Given the description of an element on the screen output the (x, y) to click on. 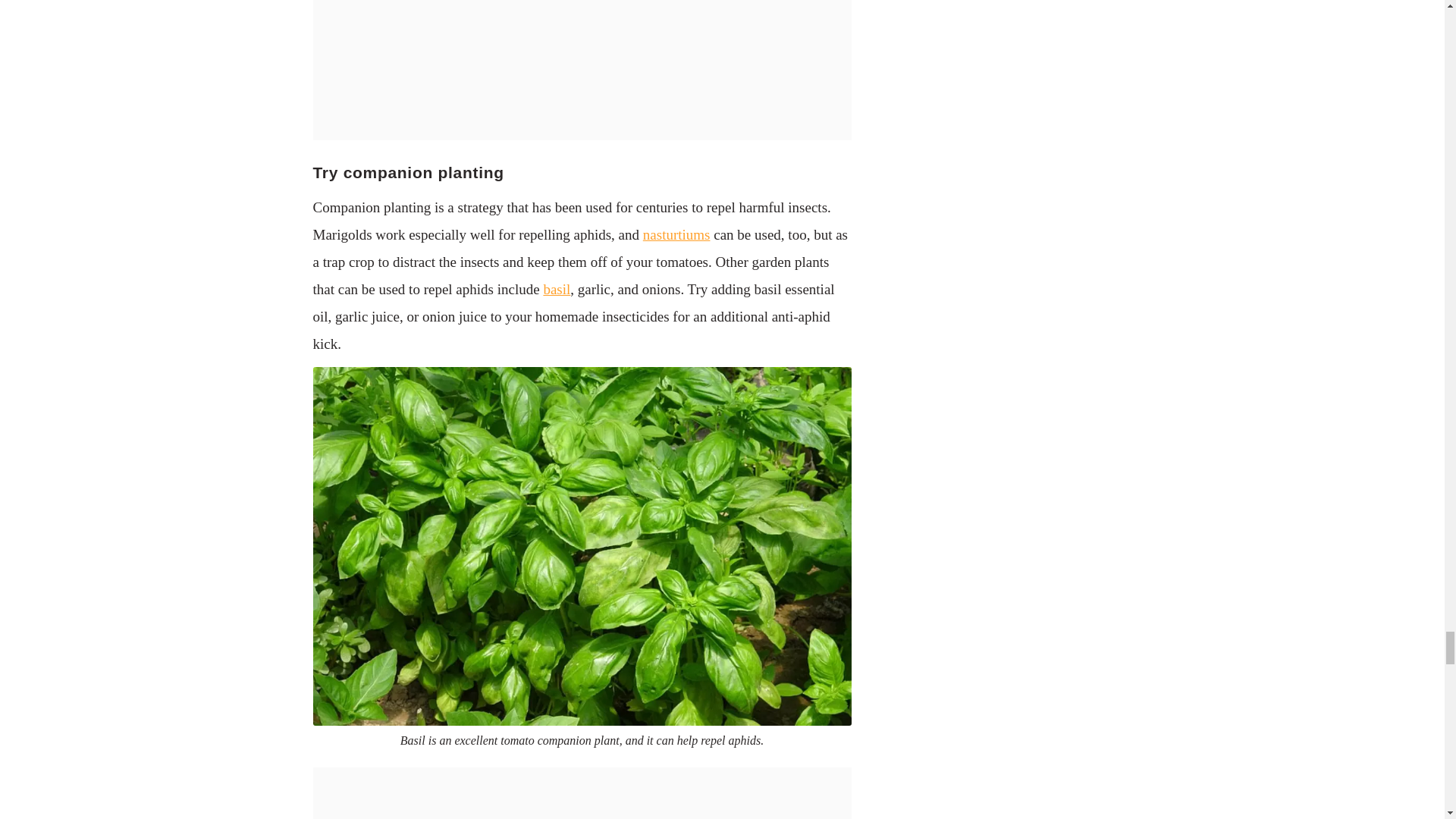
basil (556, 289)
nasturtiums (676, 234)
